Given the description of an element on the screen output the (x, y) to click on. 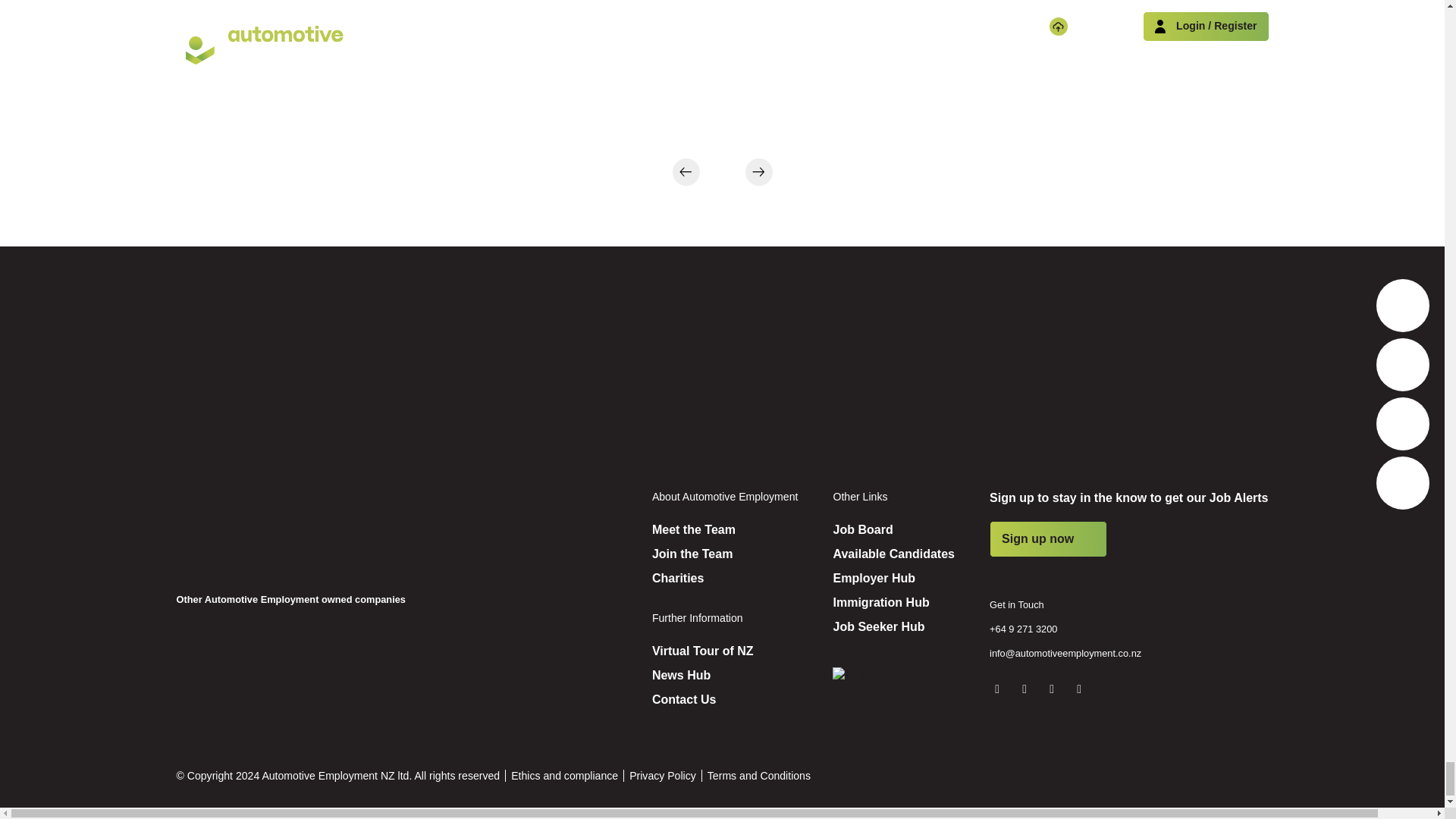
Go to the Homepage (270, 528)
